Given the description of an element on the screen output the (x, y) to click on. 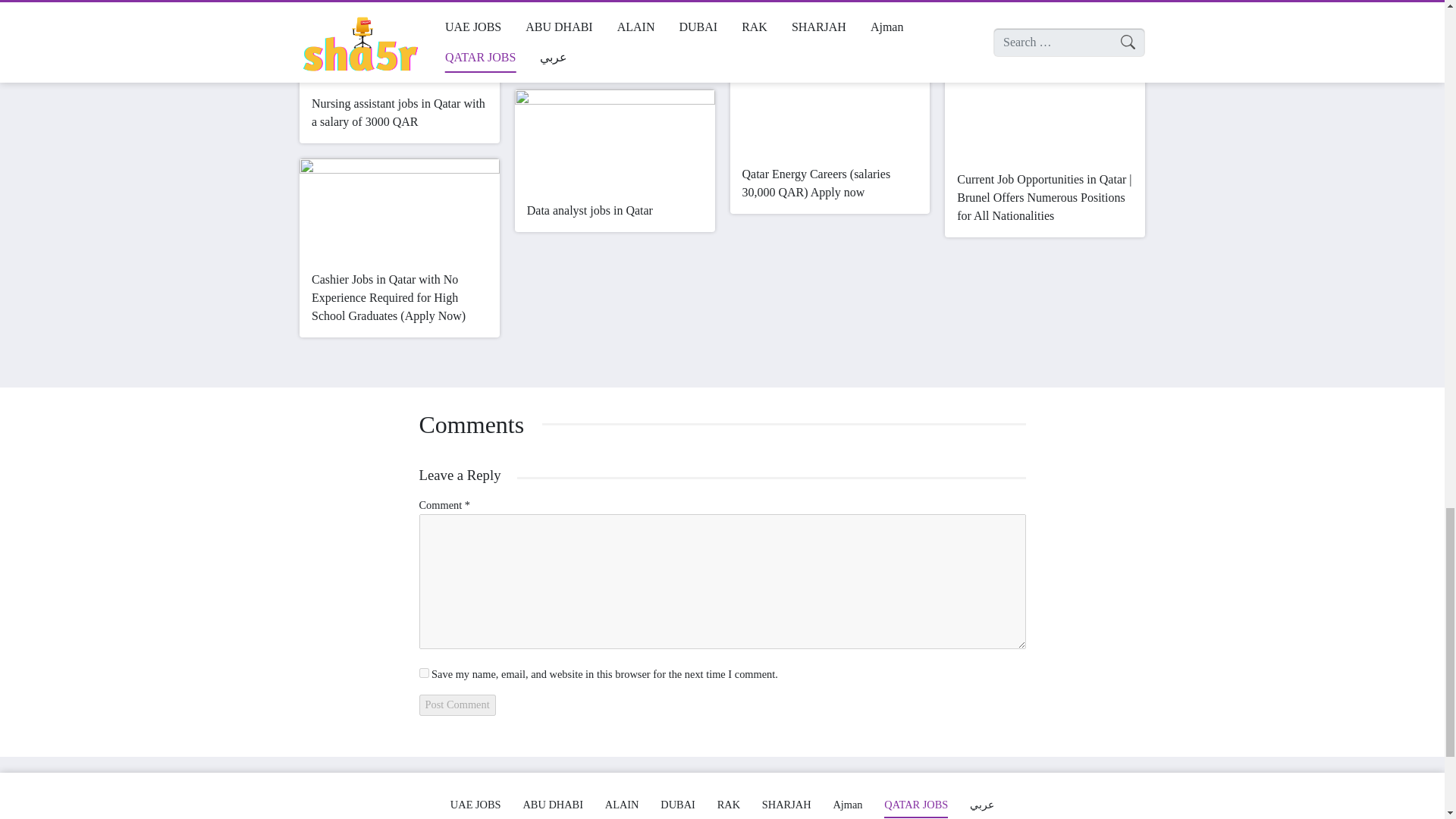
yes (423, 673)
Post Comment (457, 704)
